Given the description of an element on the screen output the (x, y) to click on. 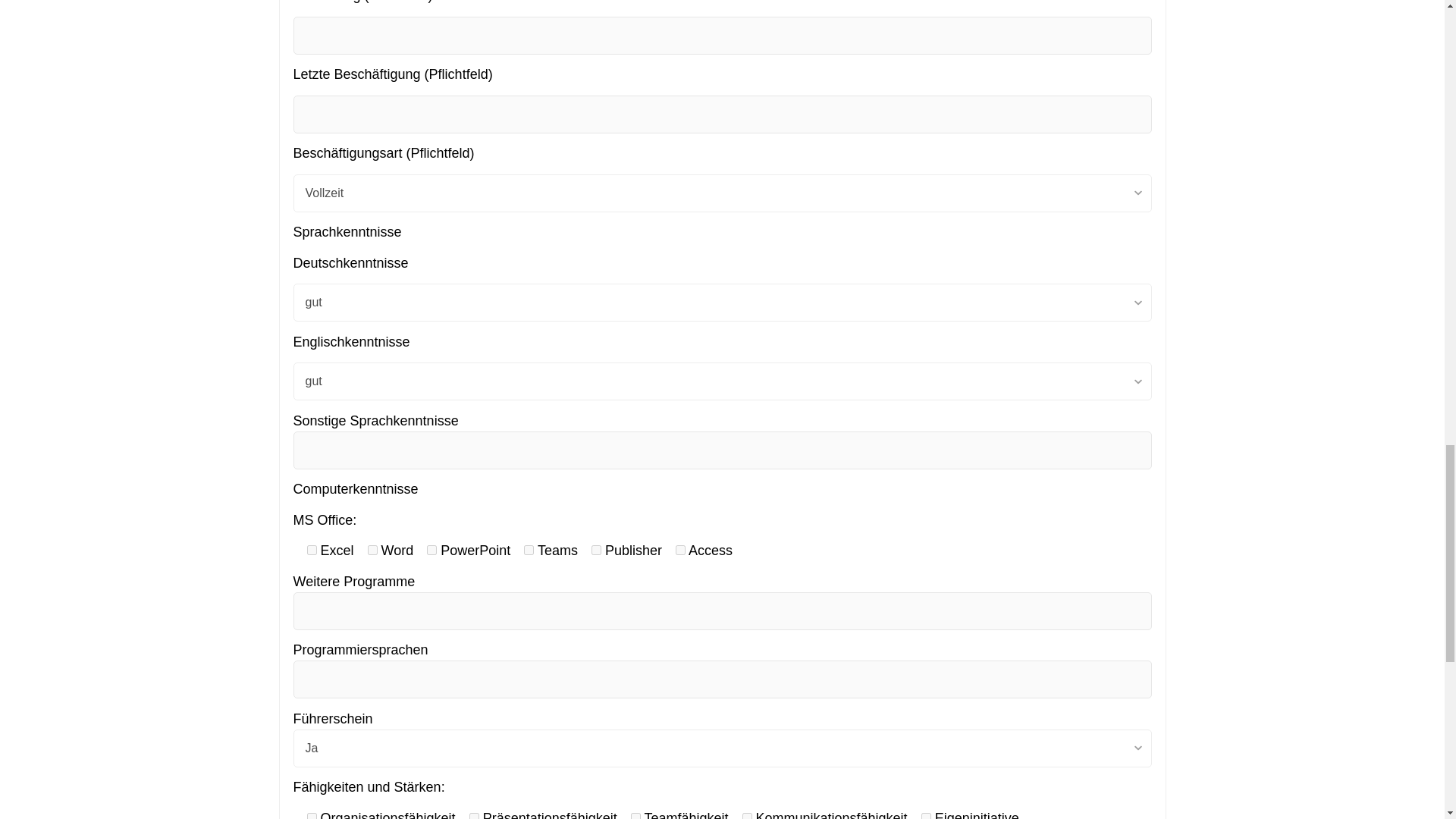
Access (680, 550)
Publisher (596, 550)
Teams (529, 550)
PowerPoint (431, 550)
Word (372, 550)
Excel (310, 550)
